Given the description of an element on the screen output the (x, y) to click on. 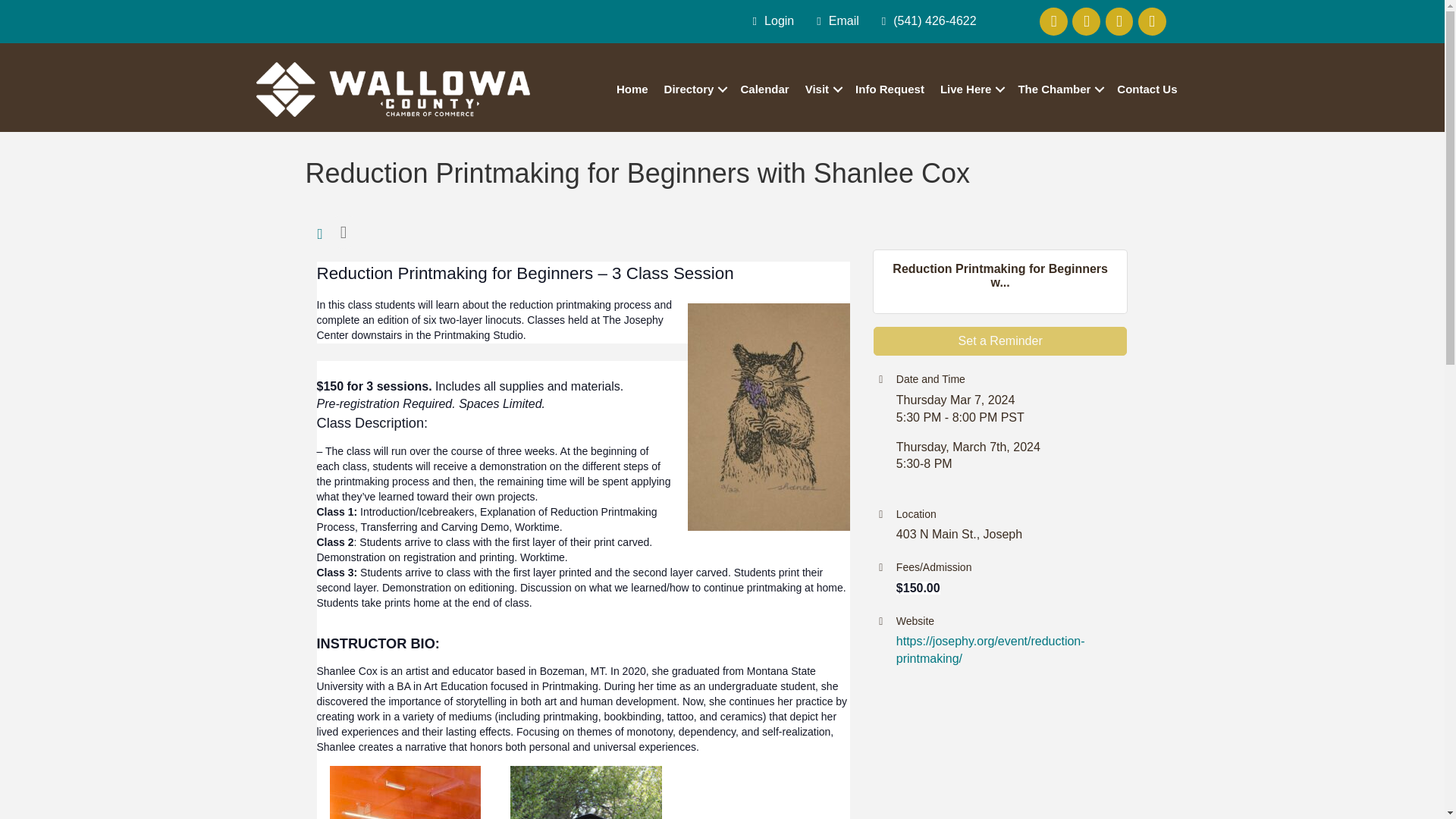
Visit (822, 88)
Directory (694, 88)
Email (834, 21)
Login (769, 21)
Home (632, 88)
wccc-horizontal-chamber-white-h100 (392, 89)
Calendar (764, 88)
